Given the description of an element on the screen output the (x, y) to click on. 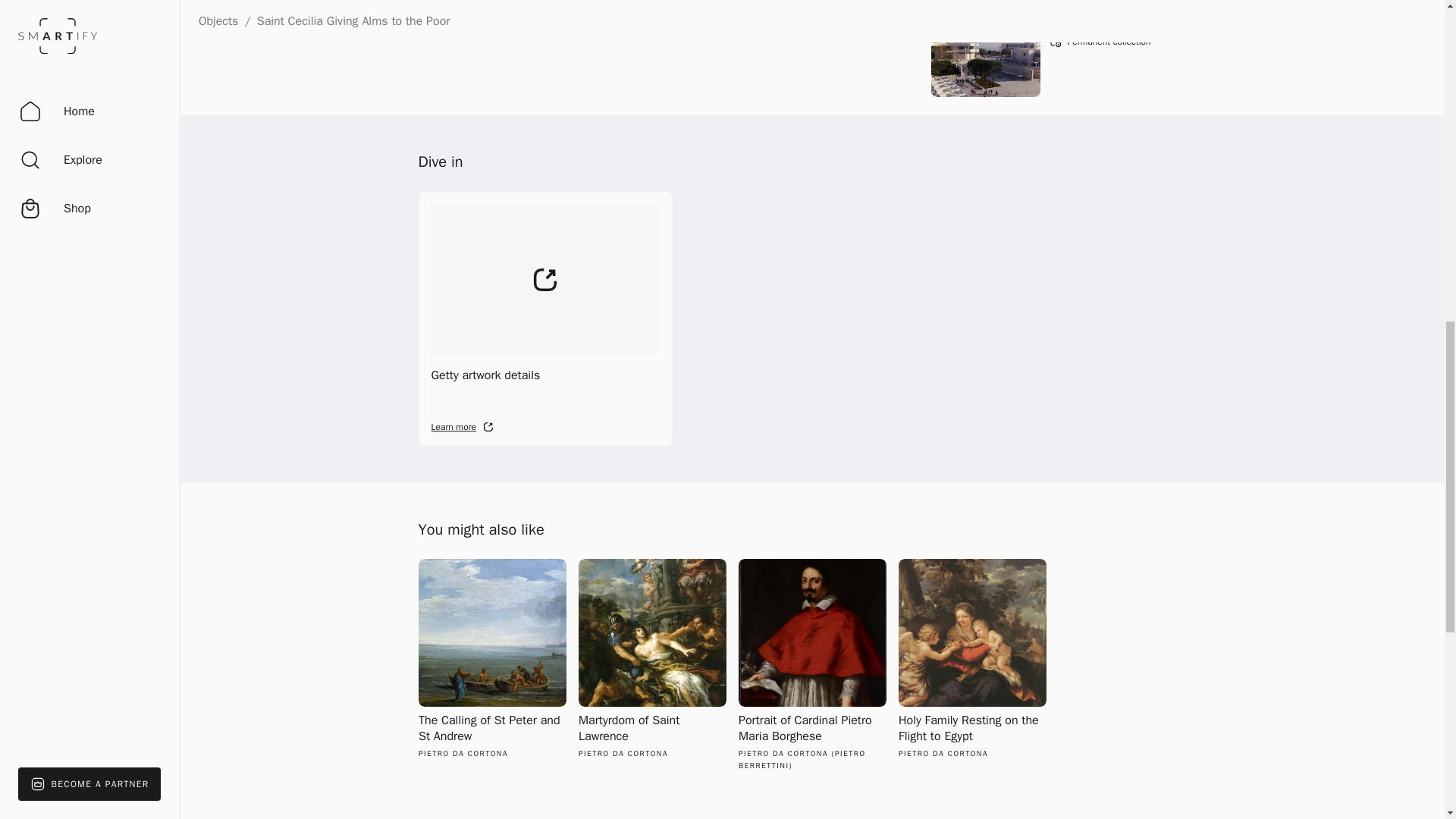
The Getty Center (1100, 19)
Getty artwork details (545, 318)
